Given the description of an element on the screen output the (x, y) to click on. 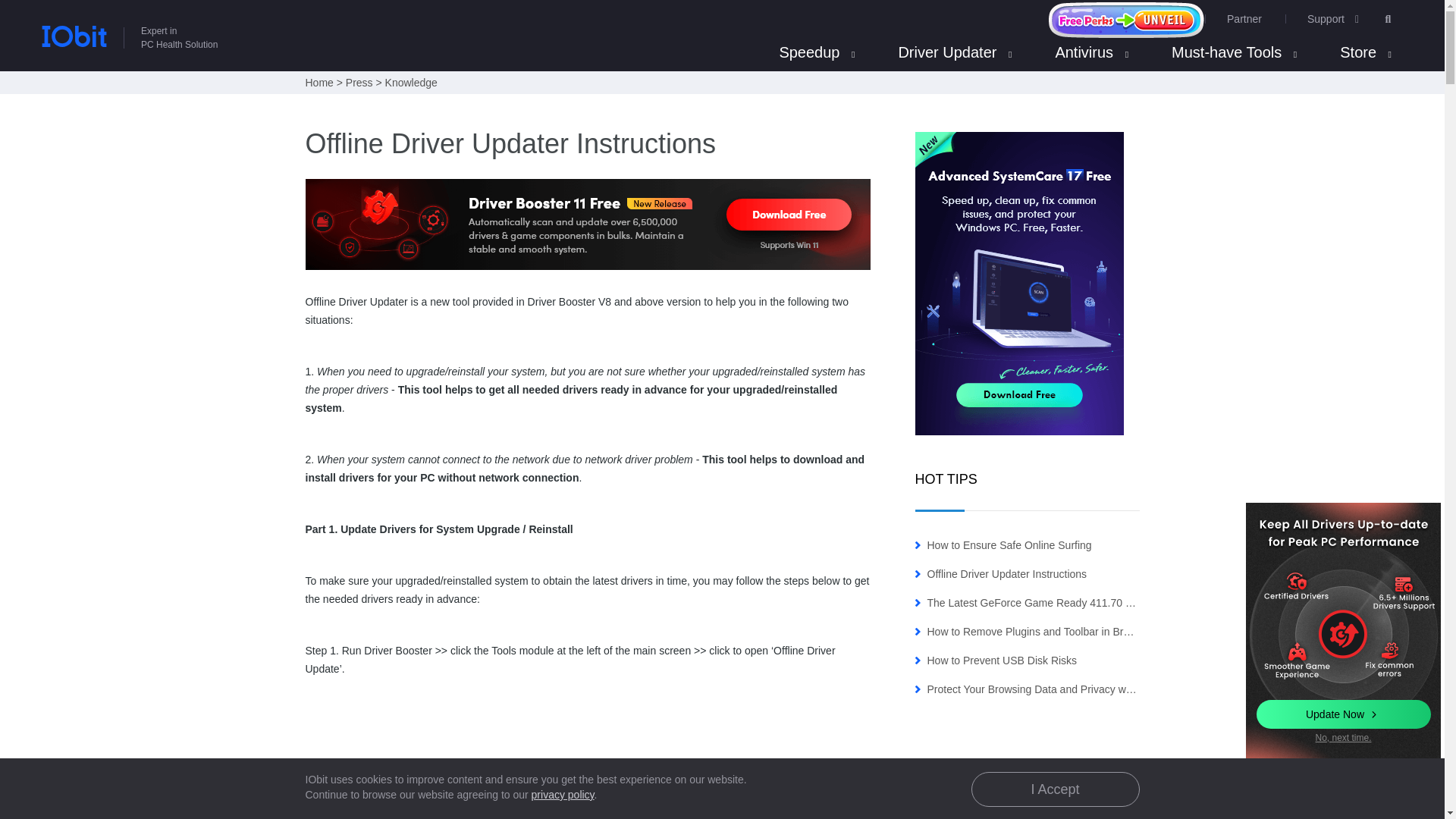
Partner (126, 23)
